Given the description of an element on the screen output the (x, y) to click on. 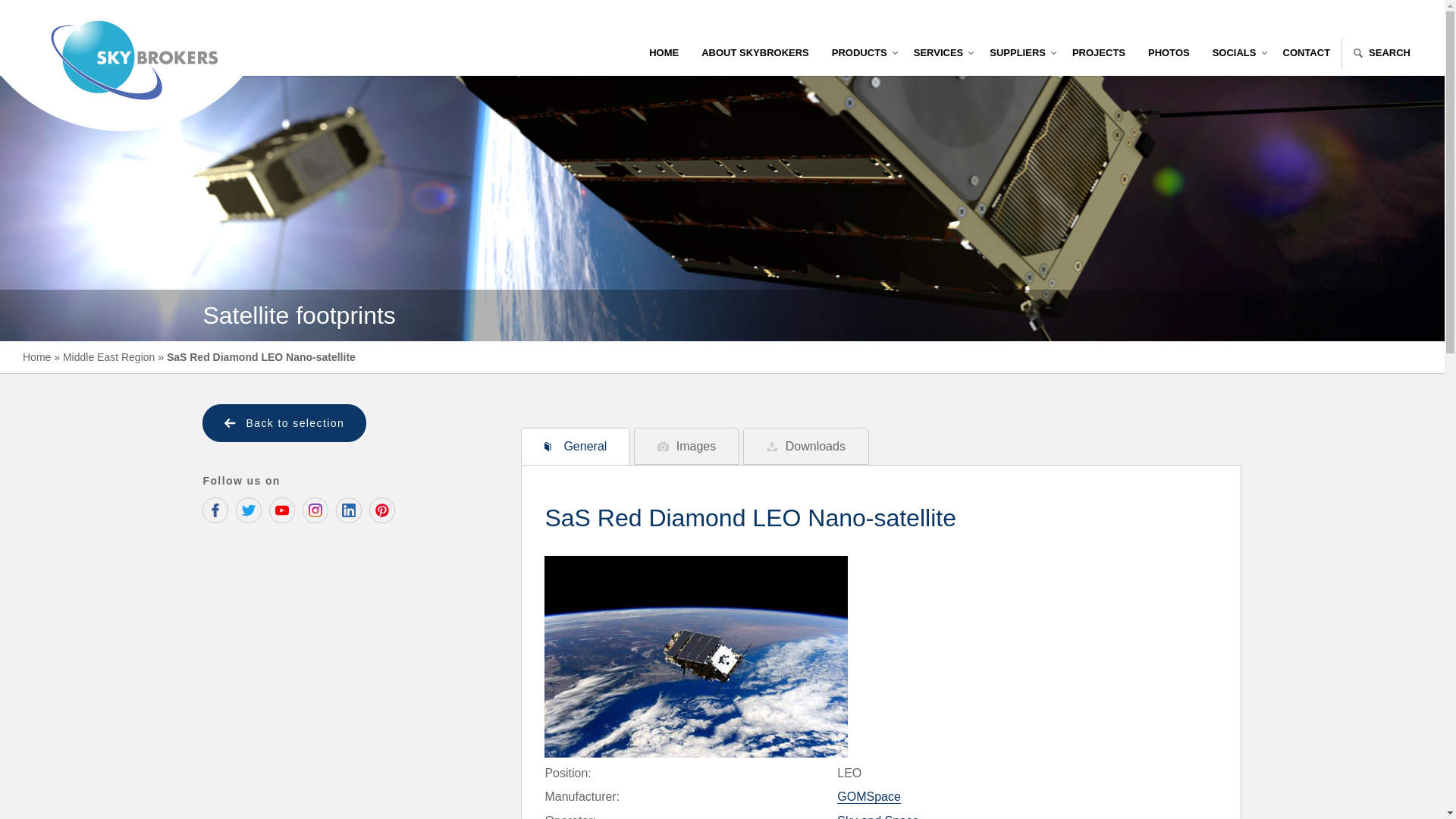
Follow Skybrokers on Linkedin (348, 510)
Follow Skybrokers on Pinterest (381, 510)
Follow Skybrokers on Instagram (315, 510)
Follow Skybrokers on Youtube (282, 510)
HOME (663, 52)
ABOUT SKYBROKERS (755, 52)
Follow Skybrokers on Twitter (248, 510)
Follow Skybrokers on Facebook (215, 510)
Sky and Space (877, 816)
GOMSpace (869, 796)
PRODUCTS (861, 52)
